Given the description of an element on the screen output the (x, y) to click on. 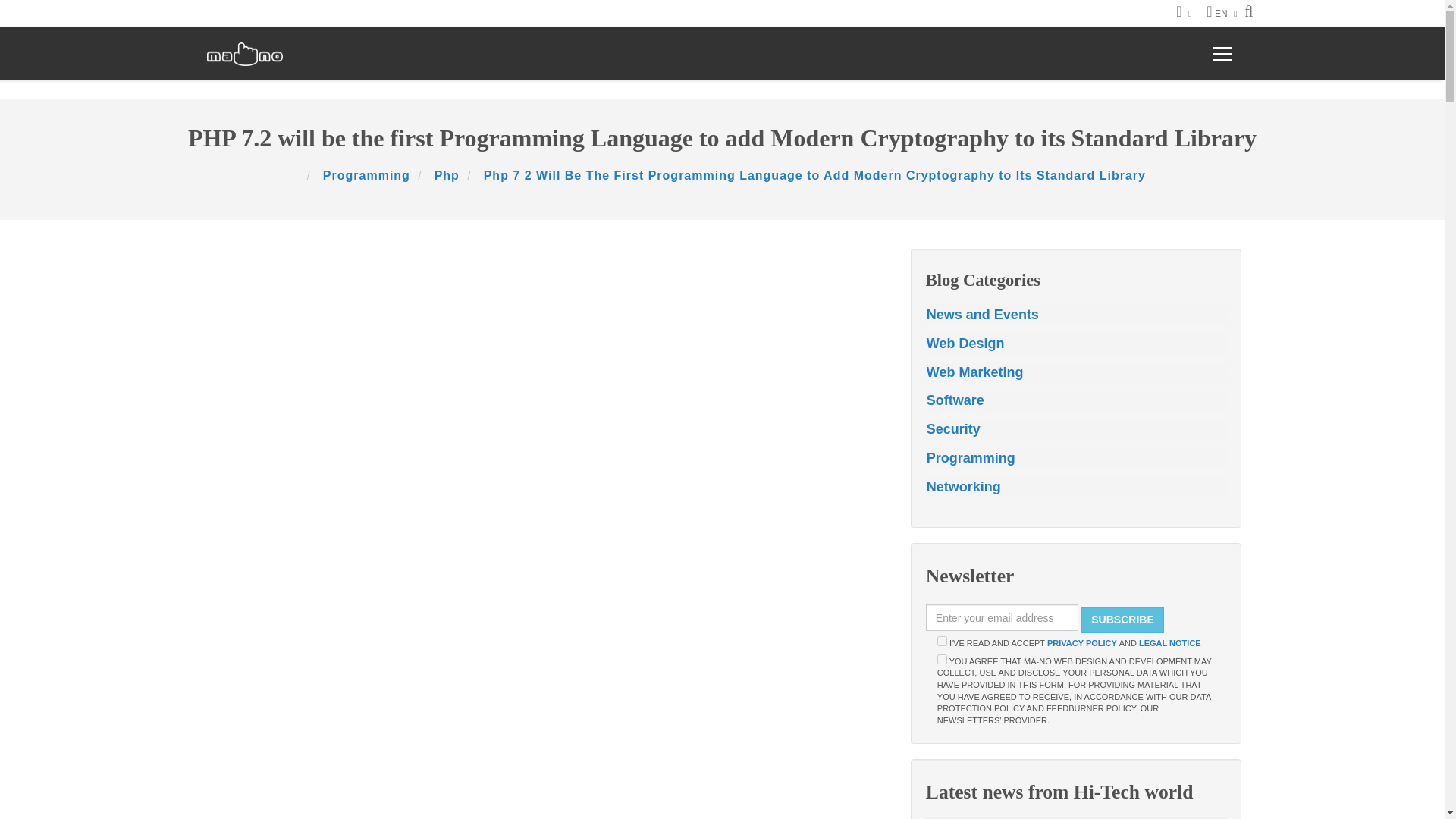
1 (942, 659)
1 (942, 641)
Subscribe (1122, 620)
Programming (366, 174)
Php (446, 174)
